Given the description of an element on the screen output the (x, y) to click on. 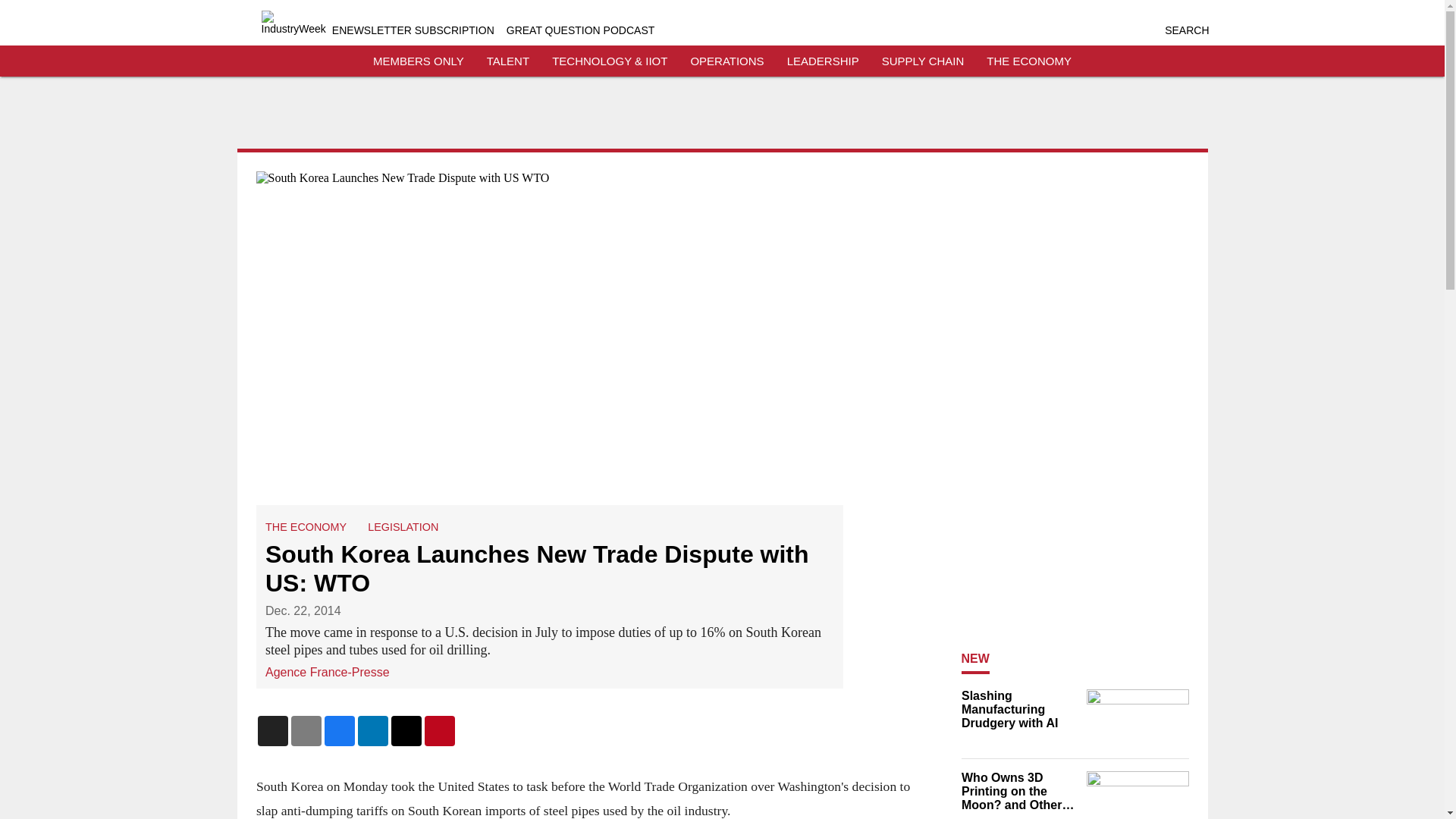
MEMBERS ONLY (418, 60)
SUPPLY CHAIN (922, 60)
GREAT QUESTION PODCAST (580, 30)
SEARCH (1186, 30)
Agence France-Presse (327, 671)
TALENT (507, 60)
THE ECONOMY (1029, 60)
LEADERSHIP (823, 60)
THE ECONOMY (305, 526)
